Given the description of an element on the screen output the (x, y) to click on. 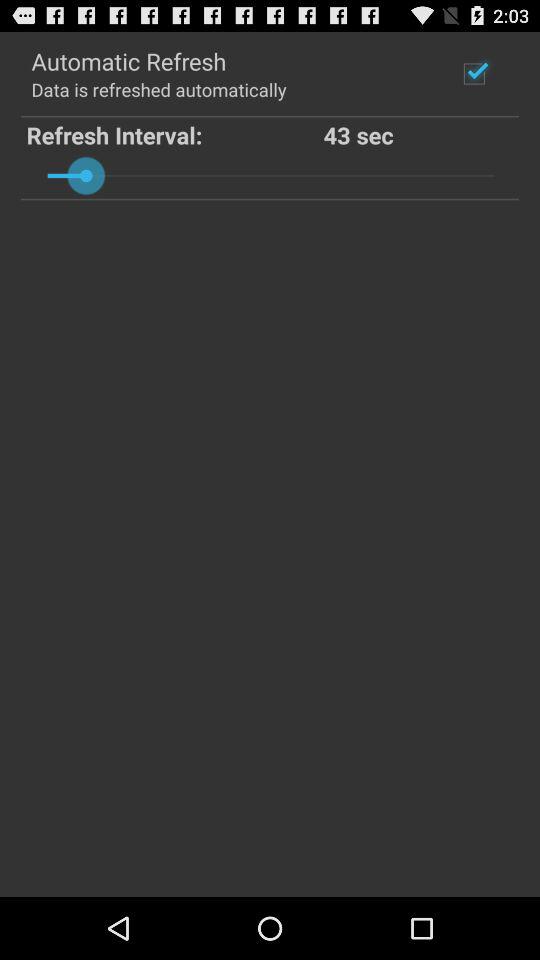
click item to the right of data is refreshed (474, 73)
